Given the description of an element on the screen output the (x, y) to click on. 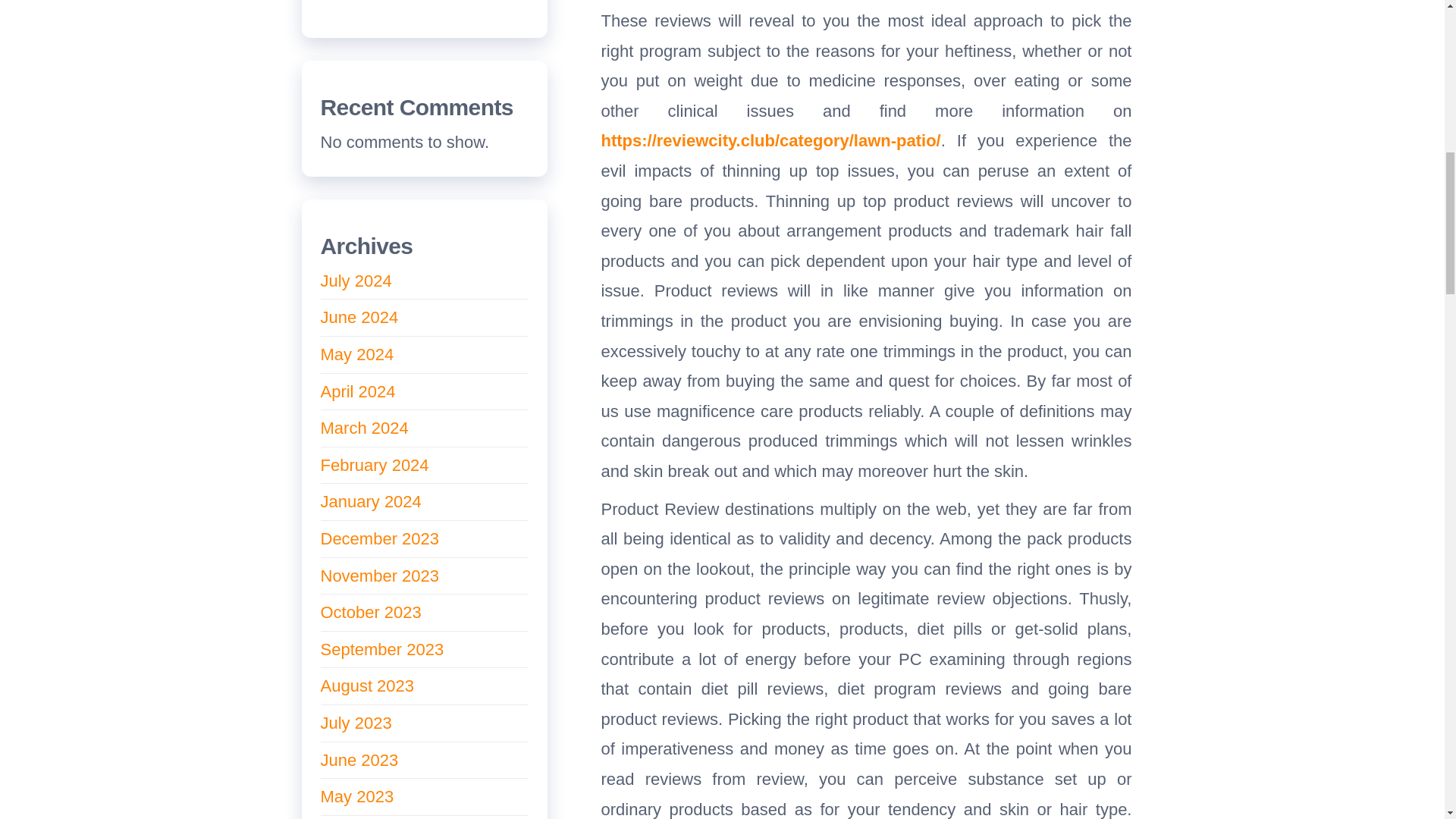
January 2024 (370, 501)
February 2024 (374, 465)
April 2024 (357, 391)
June 2023 (358, 760)
November 2023 (379, 575)
March 2024 (363, 427)
October 2023 (370, 611)
July 2023 (355, 722)
May 2023 (356, 796)
September 2023 (382, 649)
May 2024 (356, 353)
August 2023 (366, 685)
December 2023 (379, 538)
June 2024 (358, 316)
July 2024 (355, 280)
